Given the description of an element on the screen output the (x, y) to click on. 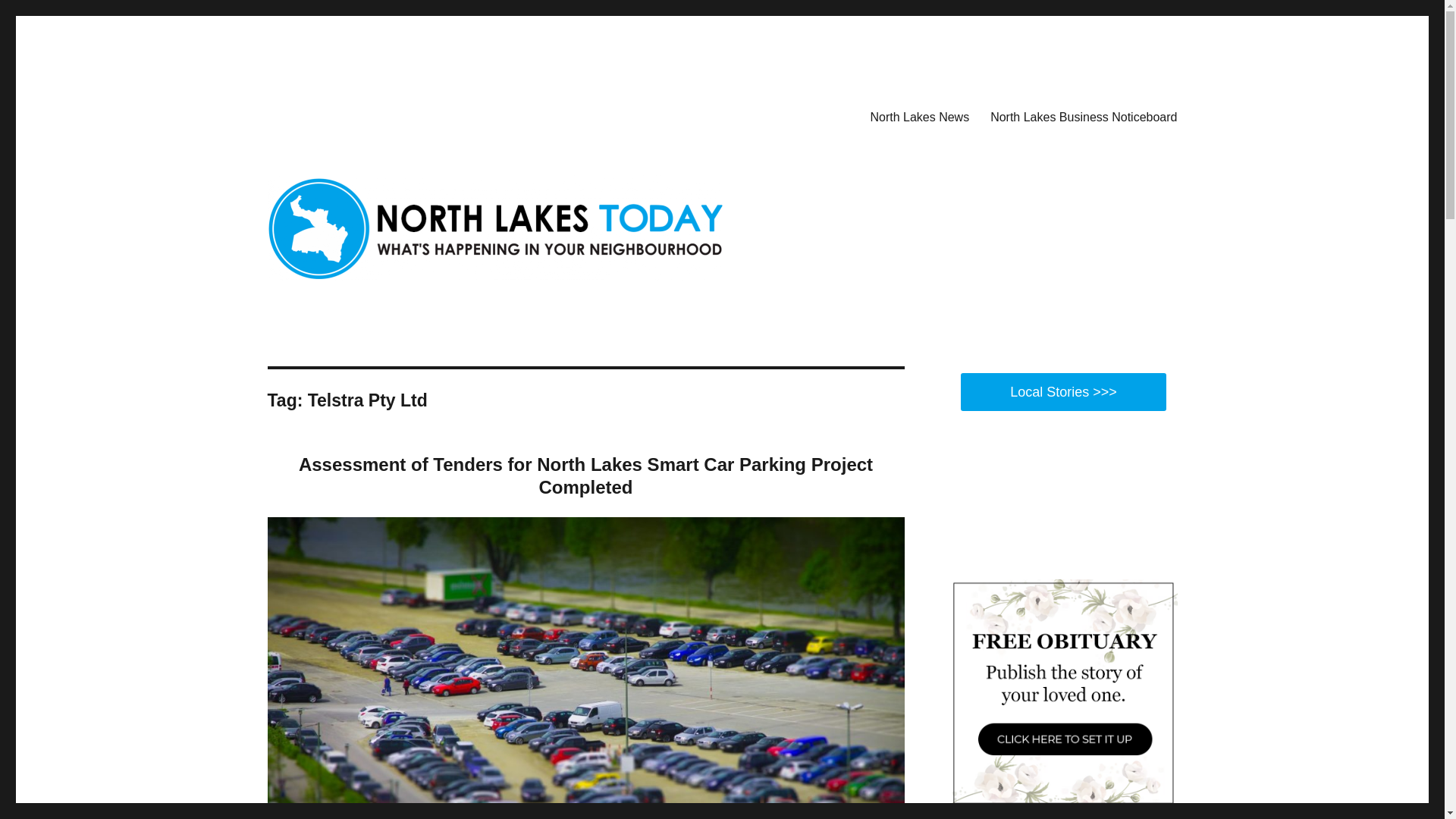
North Lakes Business Noticeboard (1083, 116)
North Lakes Today (361, 114)
North Lakes News (919, 116)
